Given the description of an element on the screen output the (x, y) to click on. 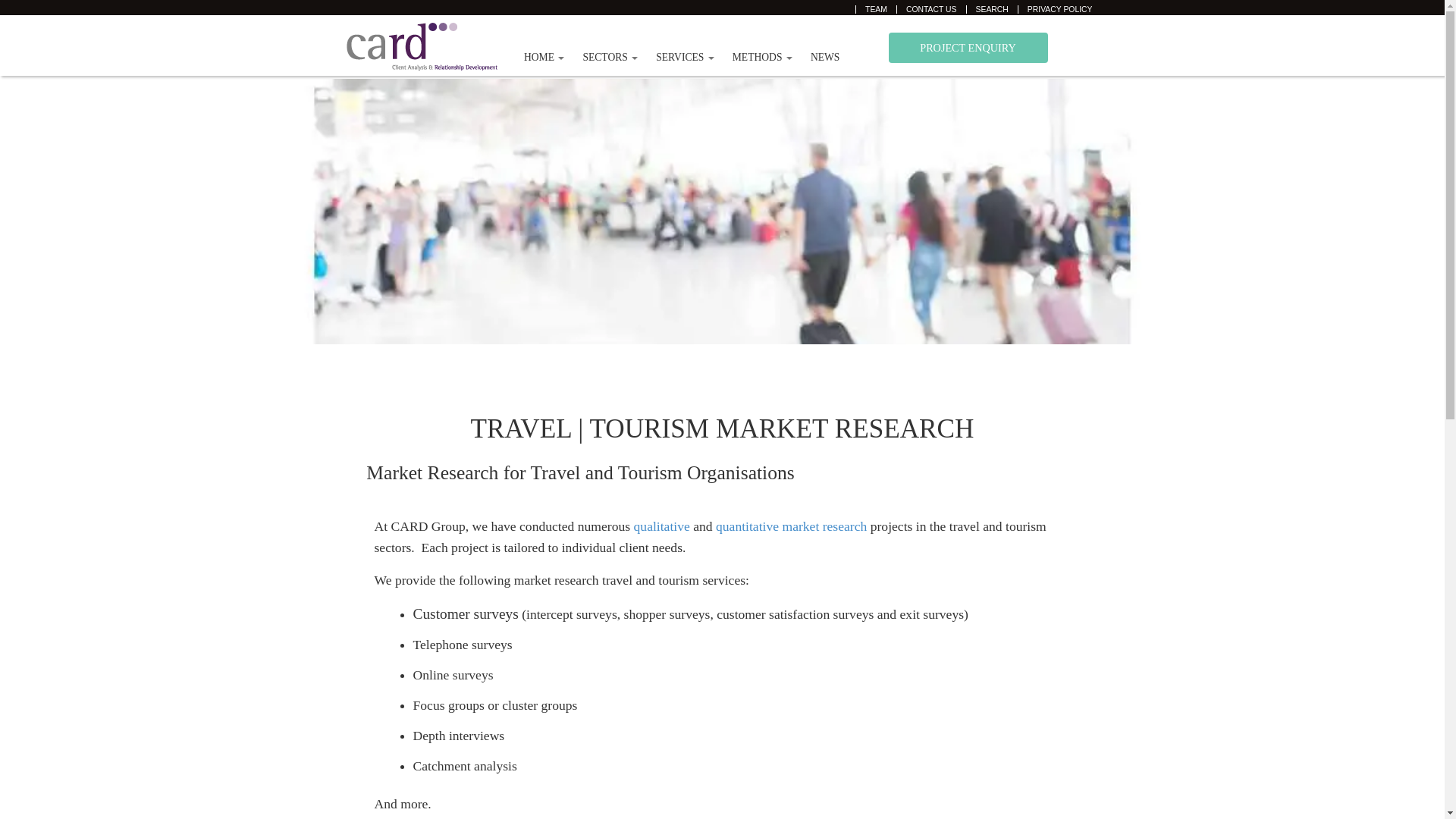
SERVICES (684, 57)
Home (544, 57)
PRIVACY POLICY (1059, 8)
METHODS (762, 57)
Search (991, 8)
CONTACT US (931, 8)
Privacy policy (1059, 8)
Contact Us (931, 8)
Team (876, 8)
SECTORS (609, 57)
